Given the description of an element on the screen output the (x, y) to click on. 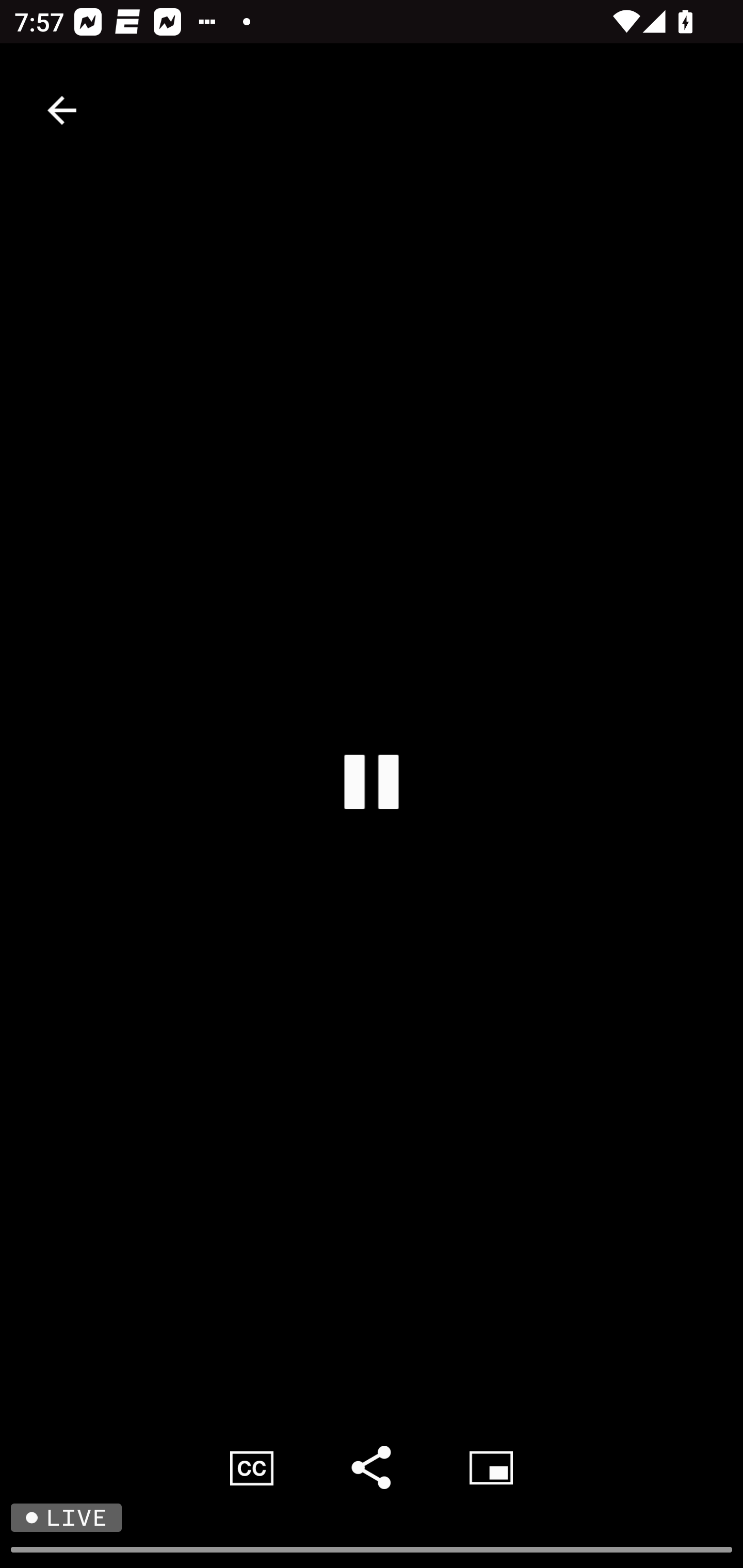
Back (61, 110)
Pause (371, 781)
Closed Captions, ON (251, 1467)
Share Media (371, 1467)
Picture in Picture Media (490, 1467)
